Given the description of an element on the screen output the (x, y) to click on. 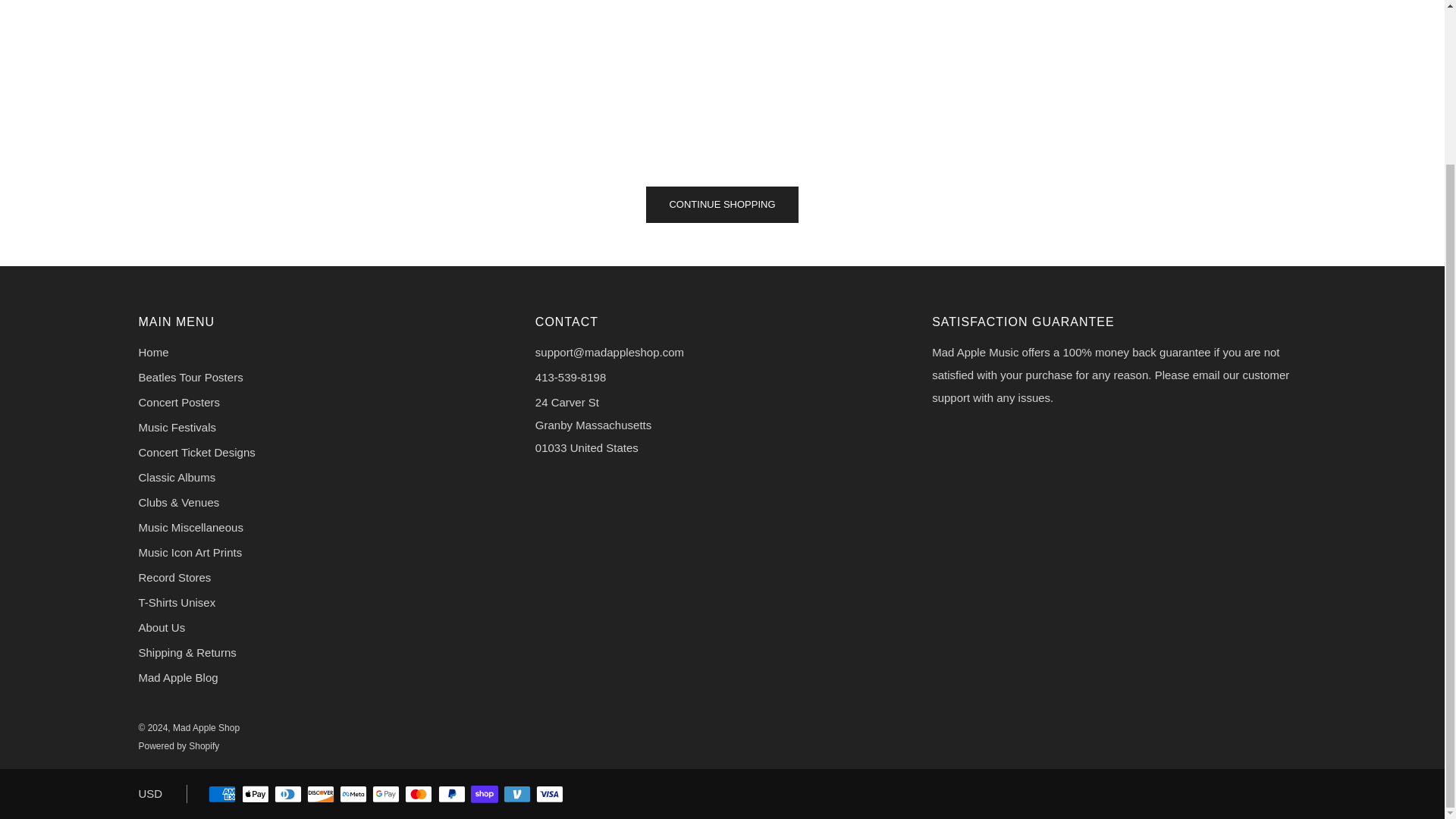
Diners Club (288, 794)
Shop Pay (483, 794)
Mastercard (418, 794)
Visa (549, 794)
PayPal (451, 794)
Meta Pay (352, 794)
Apple Pay (255, 794)
Discover (320, 794)
American Express (221, 794)
Google Pay (385, 794)
Venmo (517, 794)
